Given the description of an element on the screen output the (x, y) to click on. 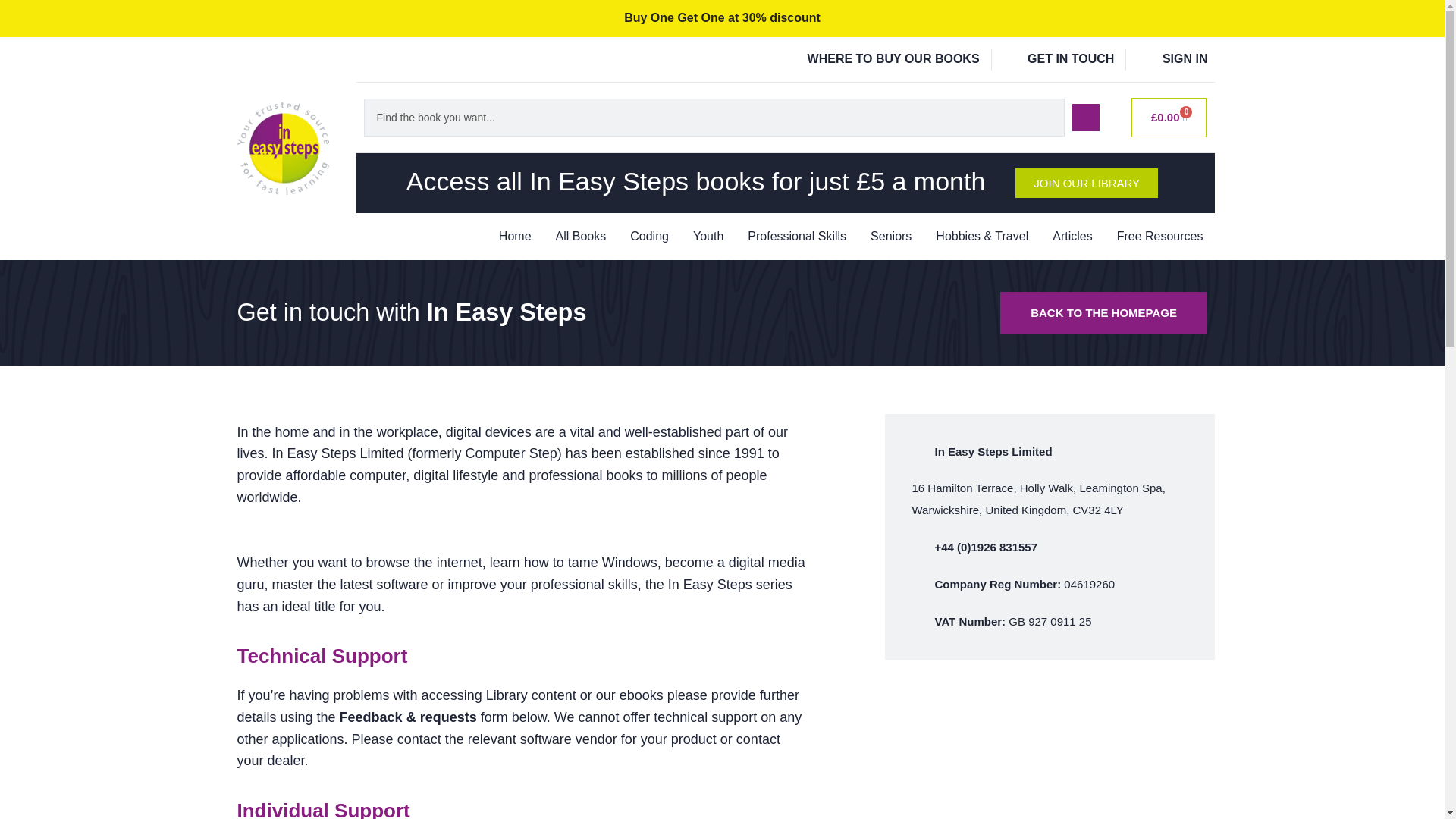
Articles (1071, 236)
SIGN IN (1172, 59)
Seniors (890, 236)
All Books (581, 236)
Professional Skills (796, 236)
Youth (708, 236)
GET IN TOUCH (1059, 59)
WHERE TO BUY OUR BOOKS (880, 59)
Free Resources (1160, 236)
JOIN OUR LIBRARY (1085, 183)
